Given the description of an element on the screen output the (x, y) to click on. 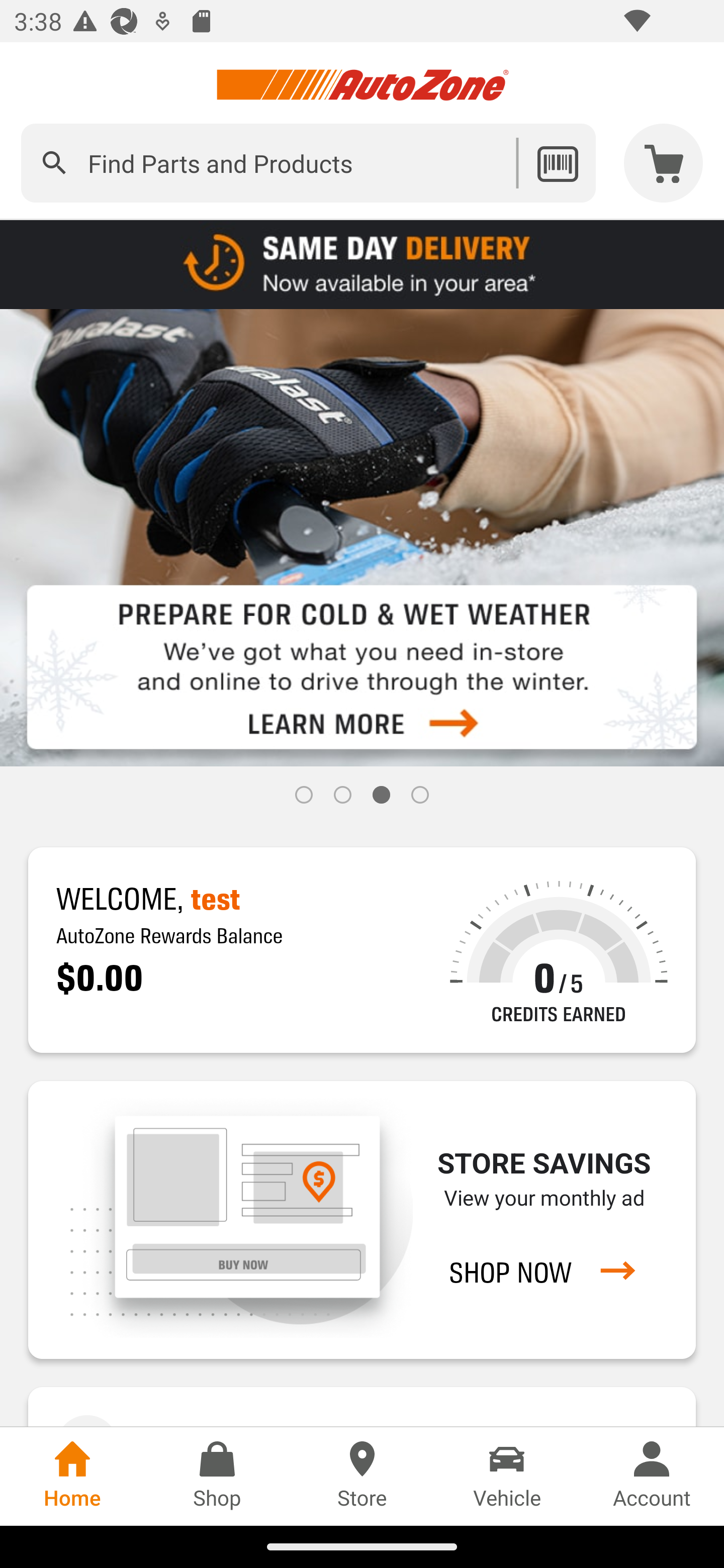
 scan-product-to-search  (557, 162)
 (54, 163)
Cart, no items  (663, 162)
Same Day Delivery - now available in your area* (362, 262)
Home (72, 1475)
Shop (216, 1475)
Store (361, 1475)
Vehicle (506, 1475)
Account (651, 1475)
